Given the description of an element on the screen output the (x, y) to click on. 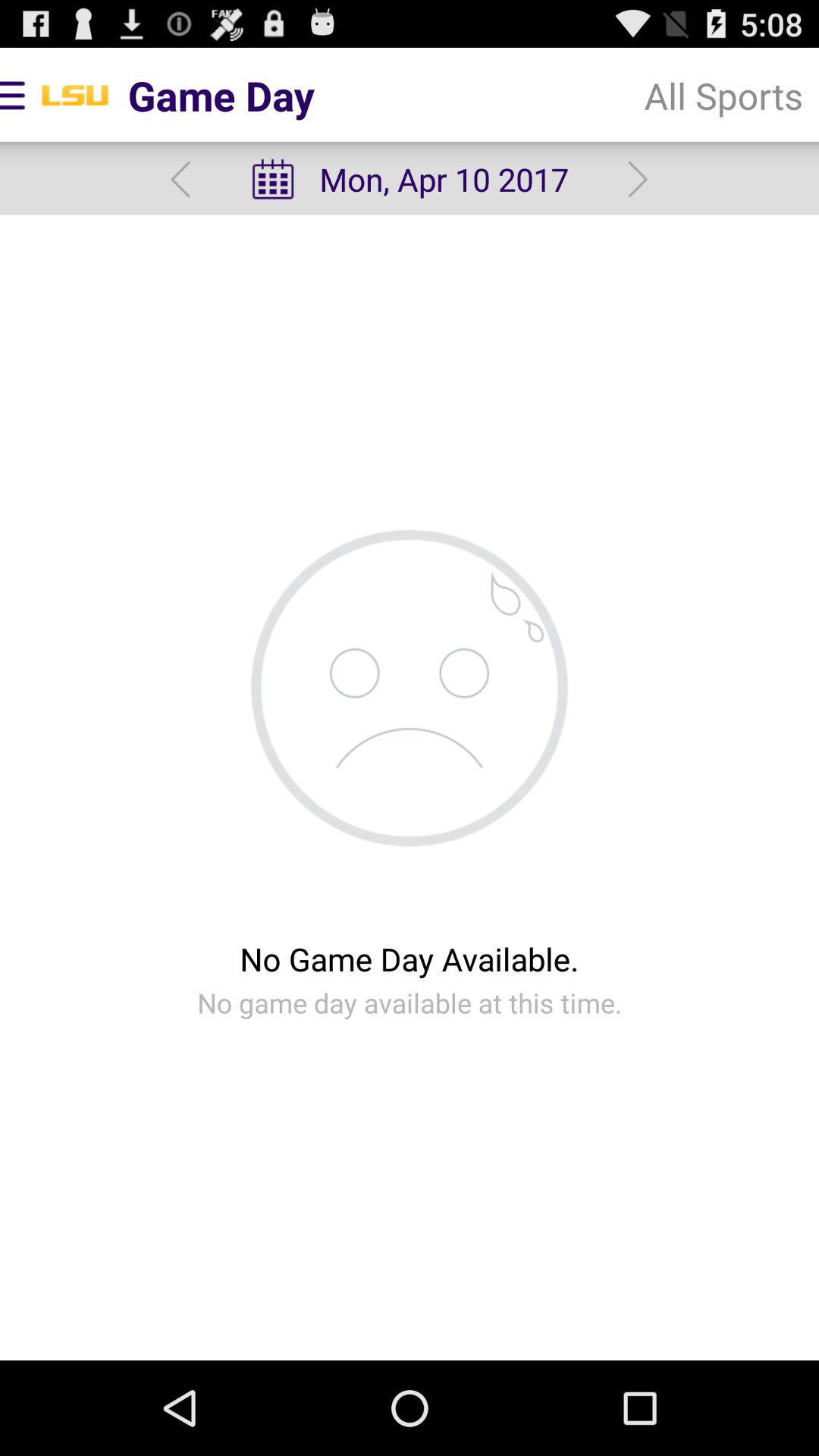
click app next to mon apr 10 (180, 178)
